Given the description of an element on the screen output the (x, y) to click on. 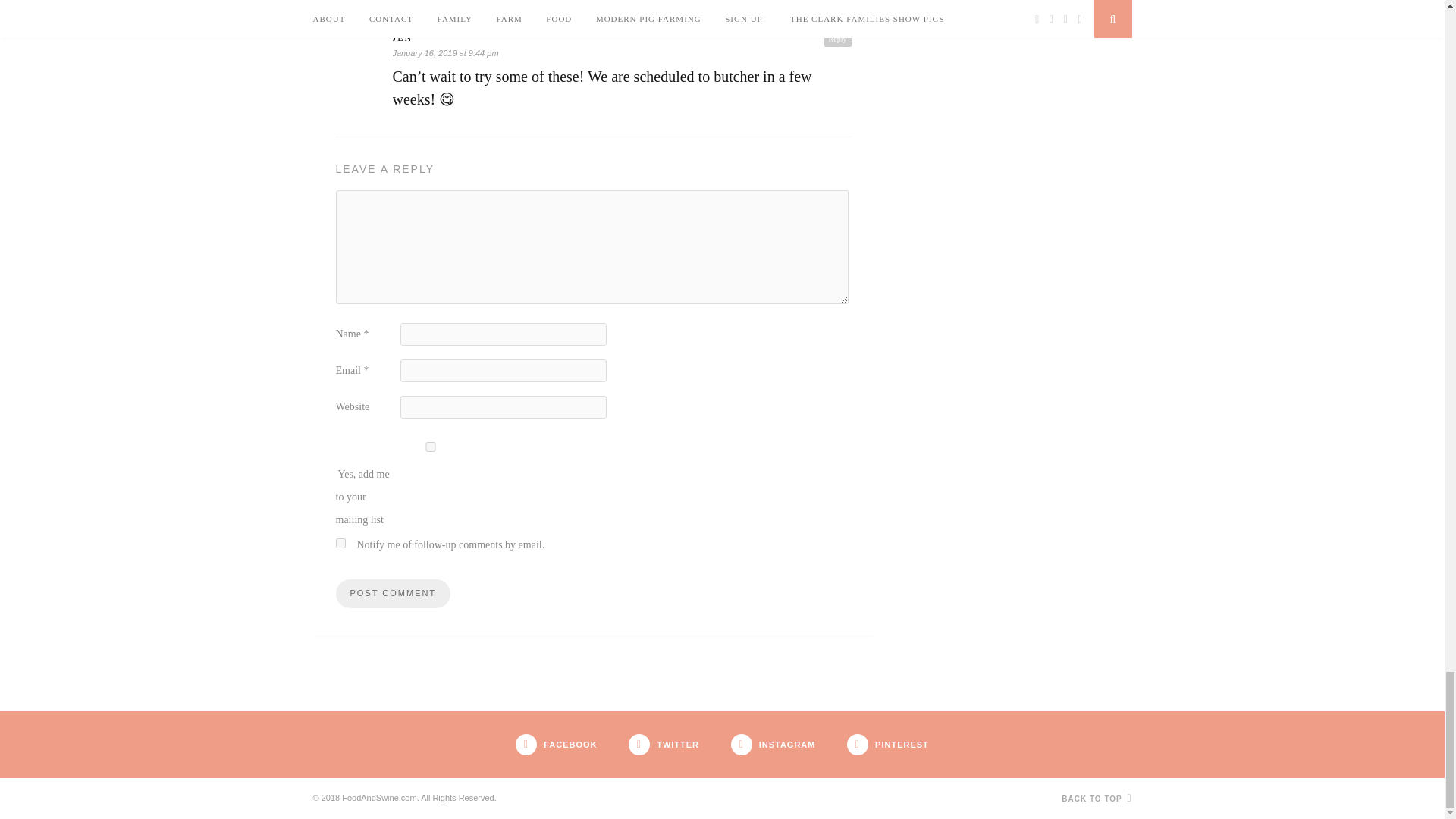
1 (429, 447)
Post Comment (391, 593)
subscribe (339, 542)
